Given the description of an element on the screen output the (x, y) to click on. 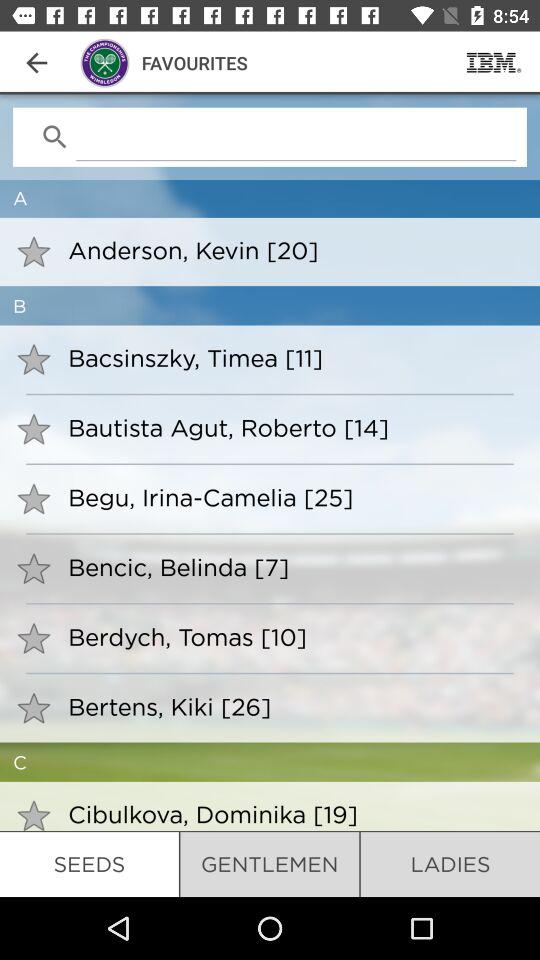
open item at the bottom right corner (450, 863)
